Given the description of an element on the screen output the (x, y) to click on. 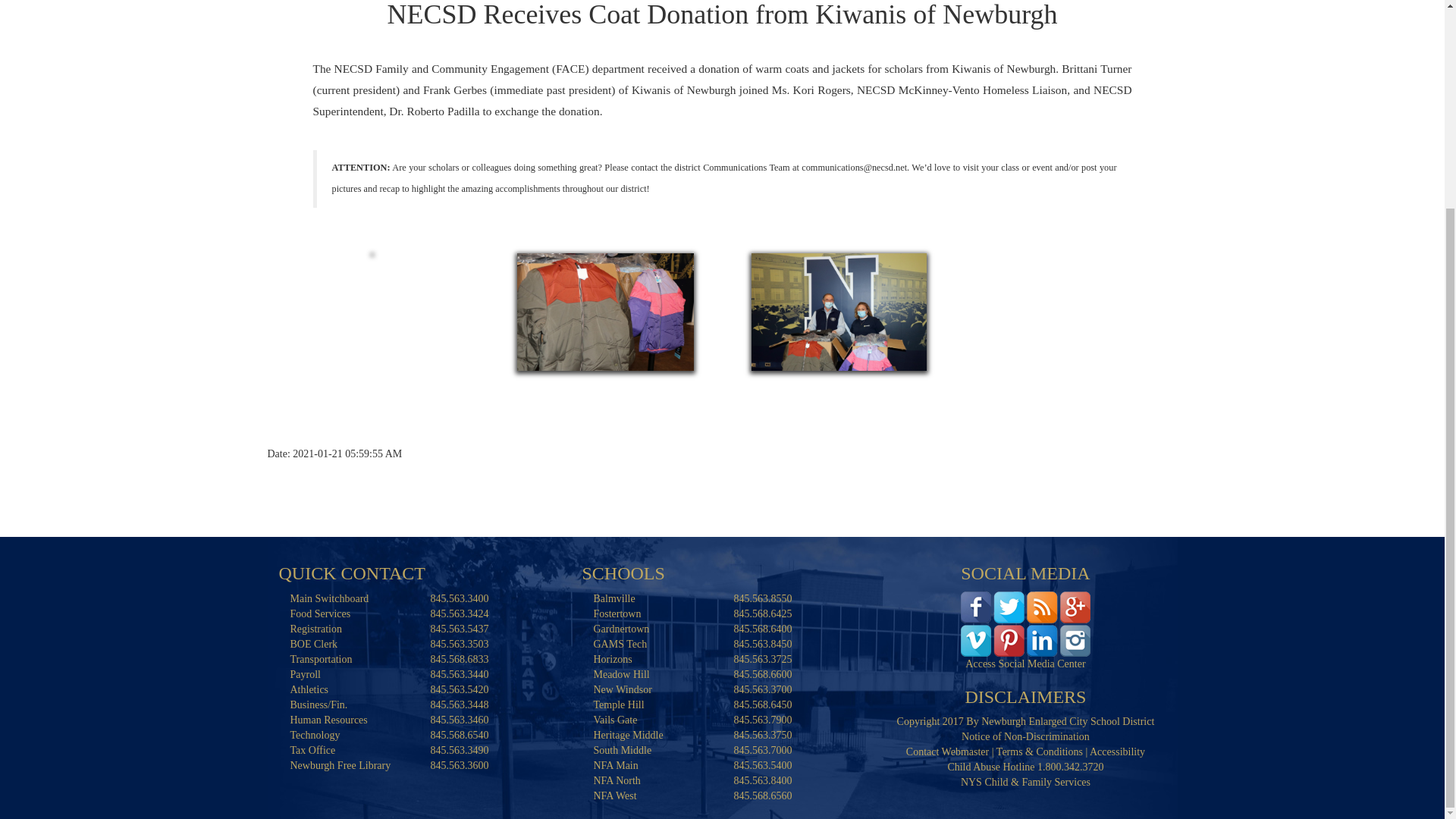
Access Social Media Center (1025, 622)
